Given the description of an element on the screen output the (x, y) to click on. 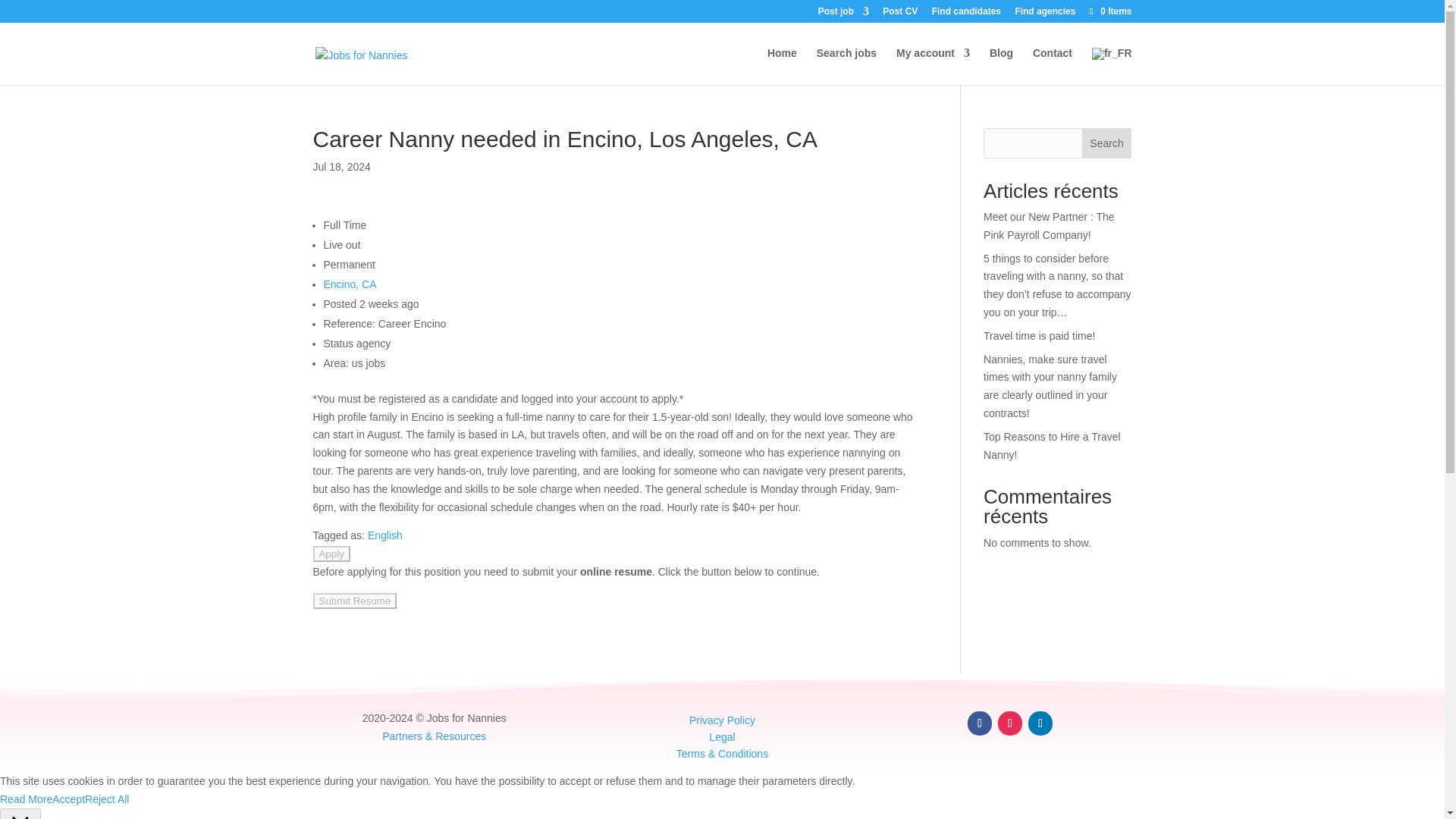
Follow on Facebook (979, 723)
Accept (68, 800)
Submit Resume (354, 600)
Meet our New Partner : The Pink Payroll Company! (1048, 225)
Reject All (106, 799)
0 Items (1108, 10)
Submit Resume (354, 600)
Apply (331, 553)
Post CV (899, 14)
Contact (1051, 65)
Find candidates (966, 14)
Encino, CA (349, 284)
Search (1106, 142)
English (385, 535)
My account (932, 65)
